Given the description of an element on the screen output the (x, y) to click on. 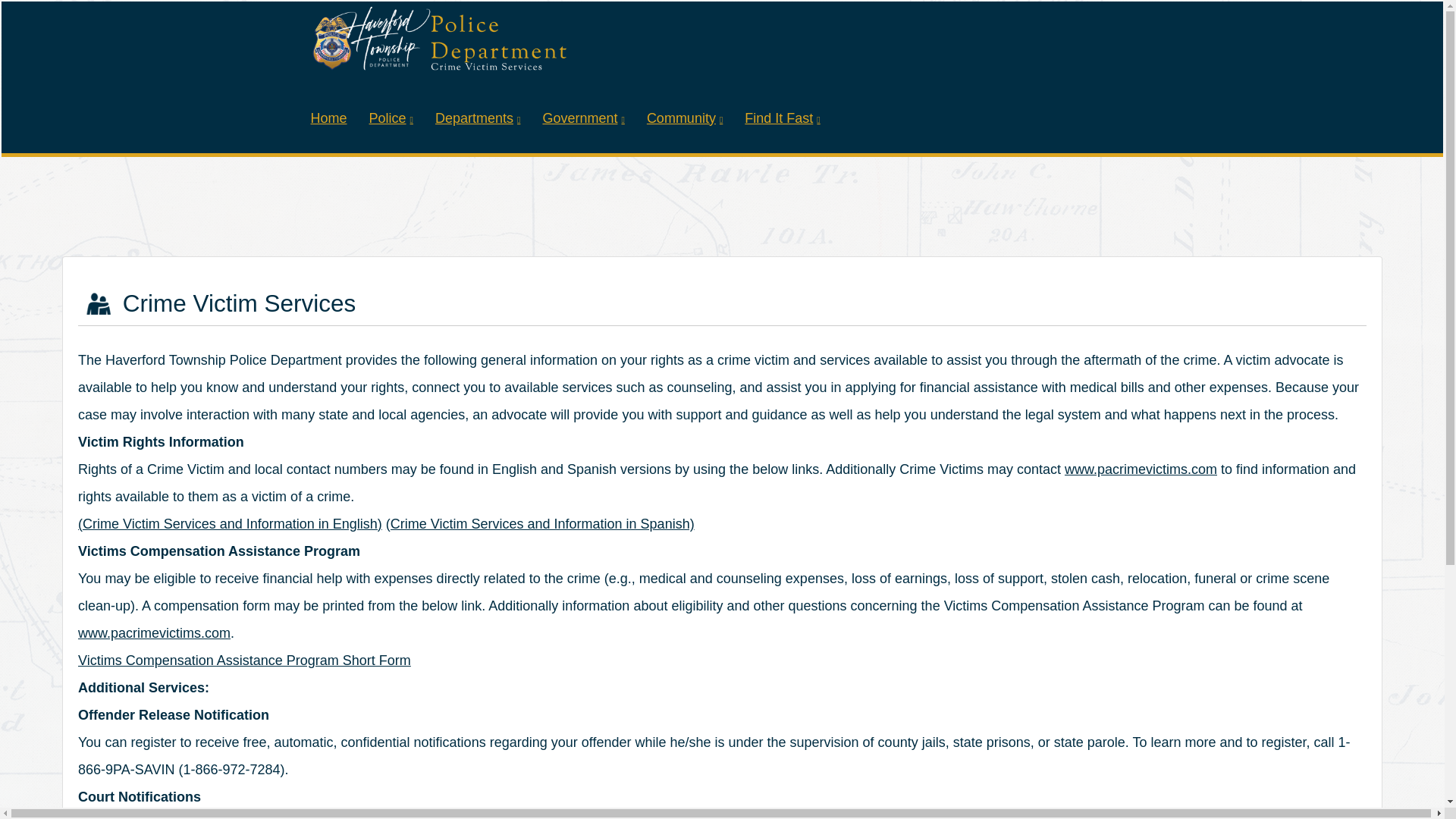
Police (390, 112)
Victims Compensation Assistance Program Short Form (244, 660)
Departments (477, 112)
Home (328, 112)
Crime Victim Services and Information in English (229, 523)
Crime Victim Services and Information in Spanish (539, 523)
www.pacrimevictims.com (154, 632)
